Given the description of an element on the screen output the (x, y) to click on. 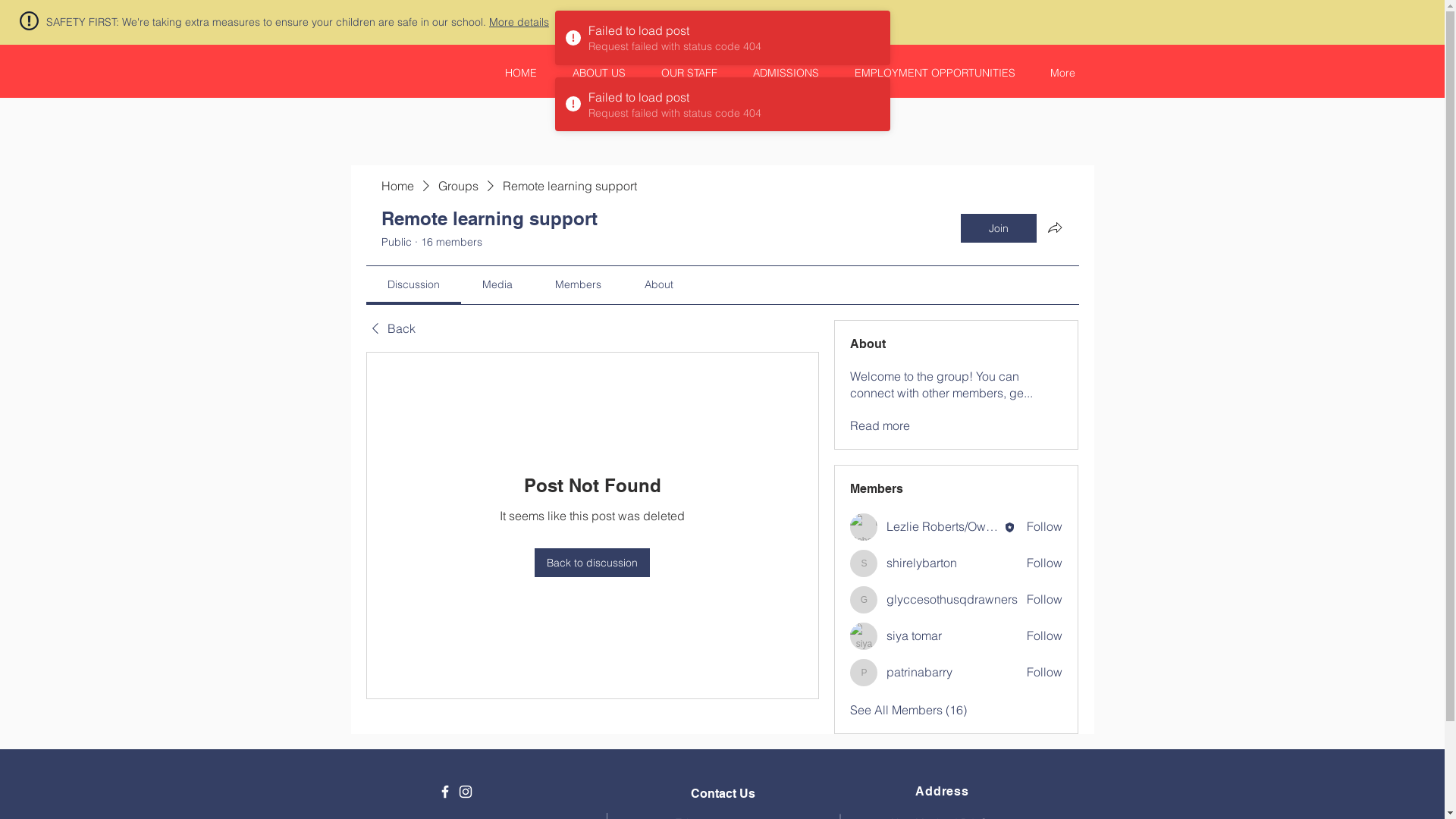
Groups Element type: text (458, 185)
siya tomar Element type: text (913, 635)
See All Members (16) Element type: text (908, 709)
Follow Element type: text (1044, 525)
More details Element type: text (519, 21)
Follow Element type: text (1044, 562)
ADMISSIONS Element type: text (778, 72)
EMPLOYMENT OPPORTUNITIES Element type: text (927, 72)
Follow Element type: text (1044, 635)
OUR STAFF Element type: text (682, 72)
shirelybarton Element type: text (921, 562)
Follow Element type: text (1044, 598)
siya tomar Element type: hover (863, 635)
Lezlie Roberts/Owner Element type: hover (863, 526)
S Element type: text (863, 563)
Lezlie Roberts/Owner Element type: text (944, 525)
Follow Element type: text (1044, 671)
Back Element type: text (389, 328)
Join Element type: text (997, 227)
glyccesothusqdrawners Element type: text (951, 598)
Back to discussion Element type: text (591, 562)
Home Element type: text (396, 185)
P Element type: text (863, 672)
HOME Element type: text (514, 72)
Read more Element type: text (880, 425)
patrinabarry Element type: text (919, 671)
G Element type: text (863, 599)
ABOUT US Element type: text (591, 72)
